Given the description of an element on the screen output the (x, y) to click on. 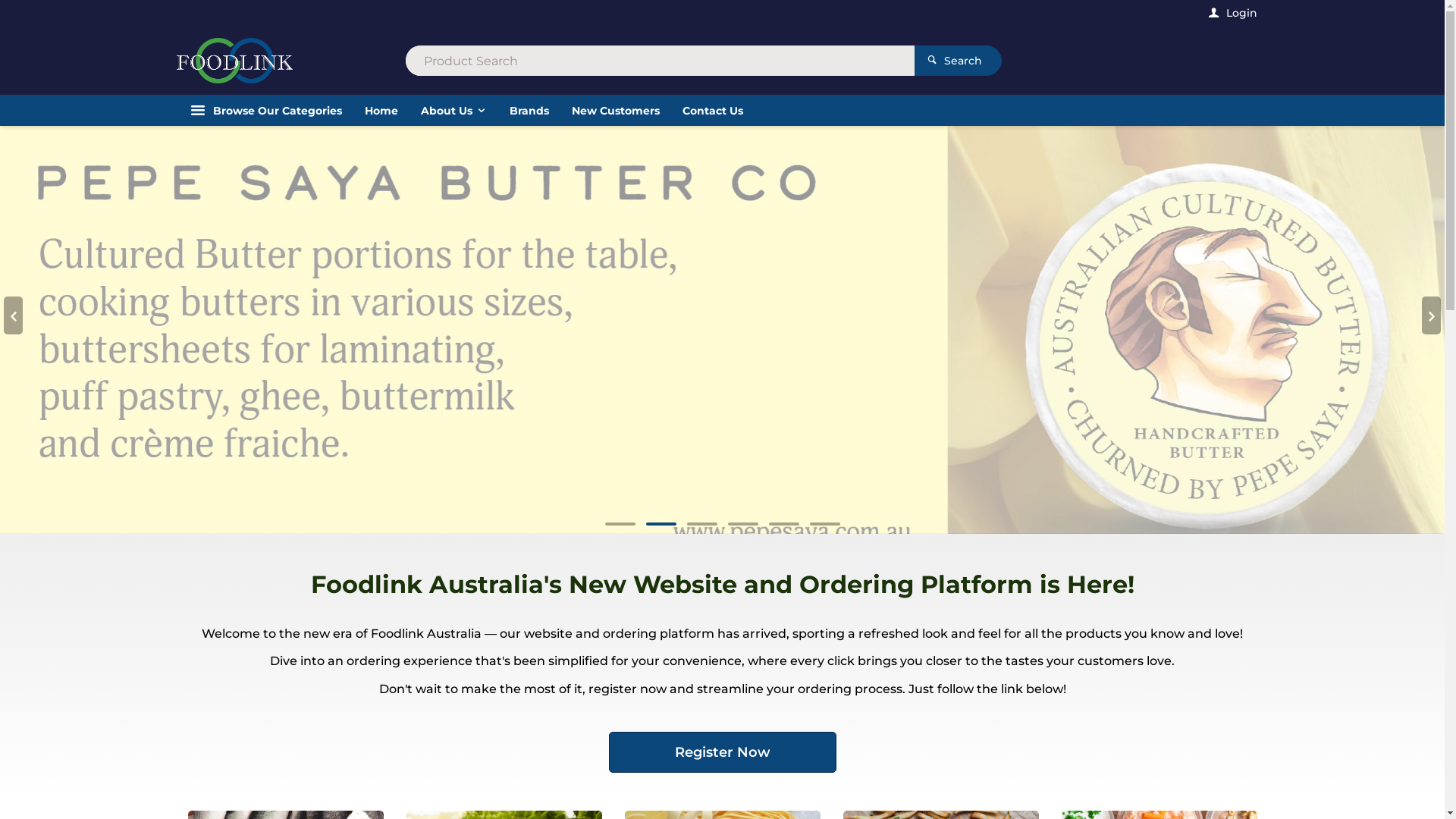
Home Element type: text (381, 110)
Search Element type: text (957, 60)
Brands Element type: text (528, 110)
Contact Us Element type: text (711, 110)
Register Now Element type: text (721, 795)
New Customers Element type: text (614, 110)
Login Element type: text (1231, 12)
